Given the description of an element on the screen output the (x, y) to click on. 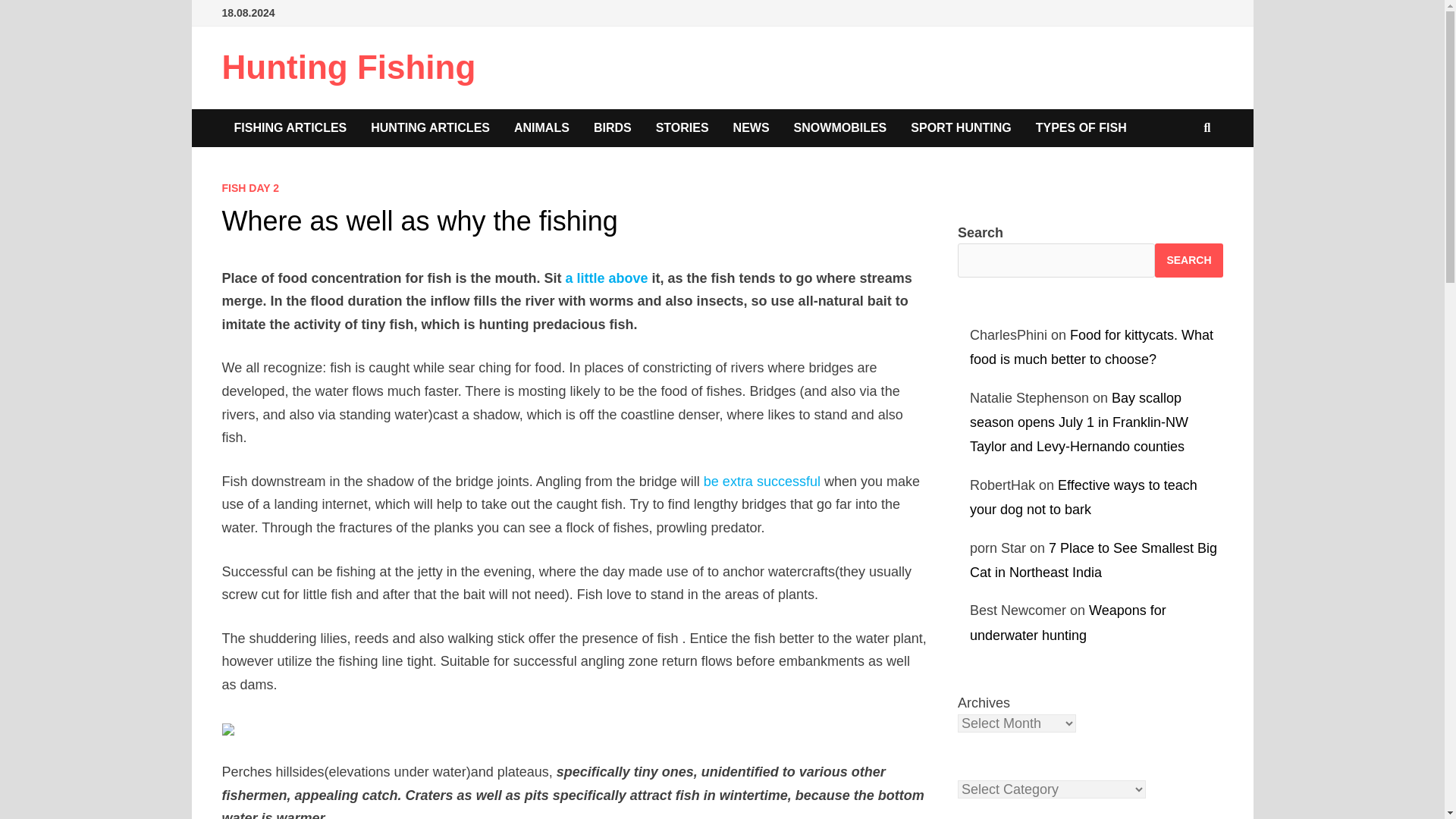
STORIES (681, 127)
NEWS (750, 127)
HUNTING ARTICLES (430, 127)
Food for kittycats. What food is much better to choose? (1090, 346)
FISH DAY 2 (249, 187)
TYPES OF FISH (1080, 127)
BIRDS (611, 127)
be extra successful (762, 481)
SEARCH (1188, 260)
Hunting Fishing (348, 66)
